Given the description of an element on the screen output the (x, y) to click on. 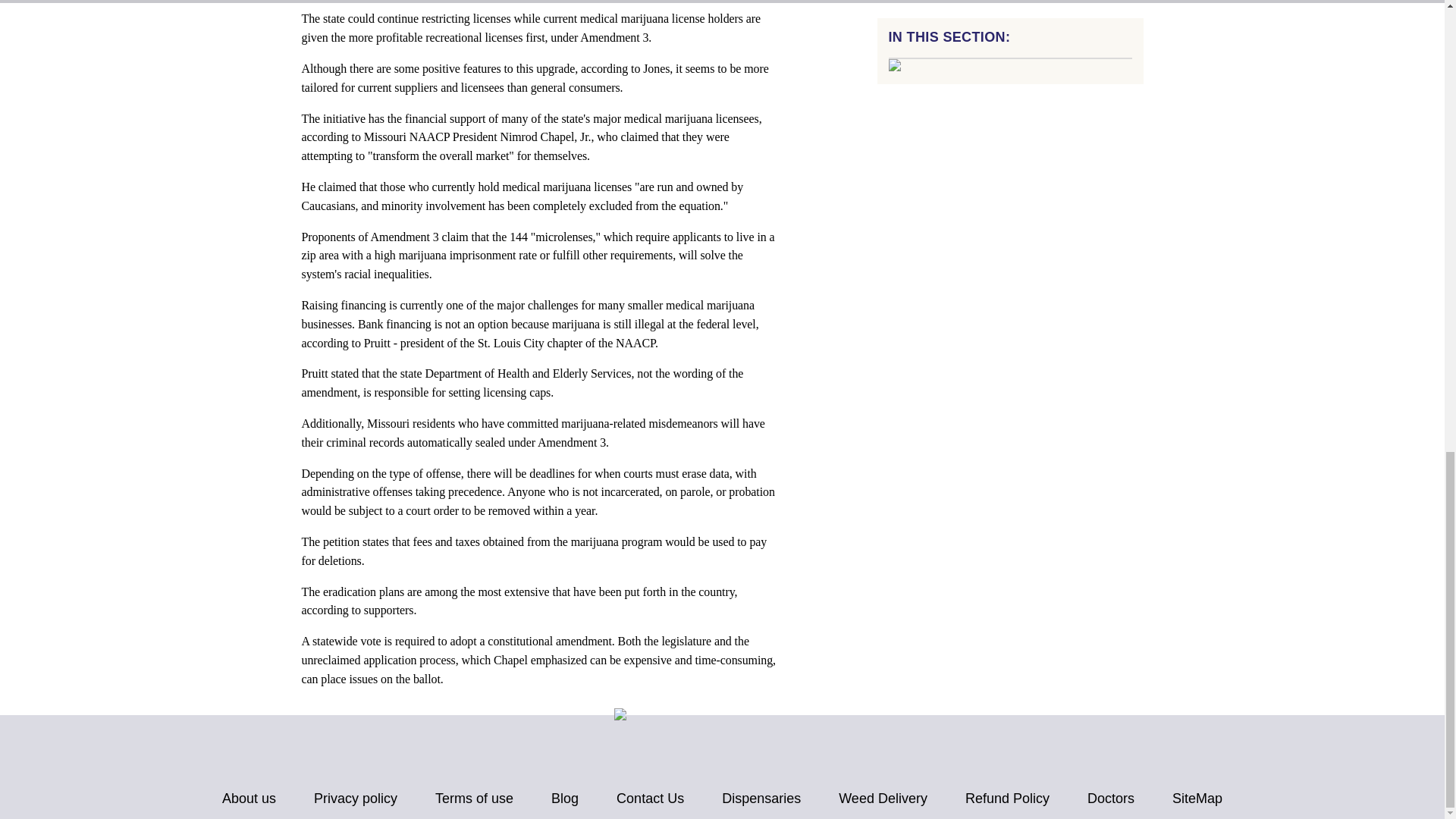
Privacy policy (355, 798)
Weed Delivery (882, 798)
About us (249, 798)
SiteMap (1197, 798)
Refund Policy (1007, 798)
Terms of use (474, 798)
Doctors (1110, 798)
Dispensaries (761, 798)
Blog (564, 798)
Contact Us (649, 798)
